Given the description of an element on the screen output the (x, y) to click on. 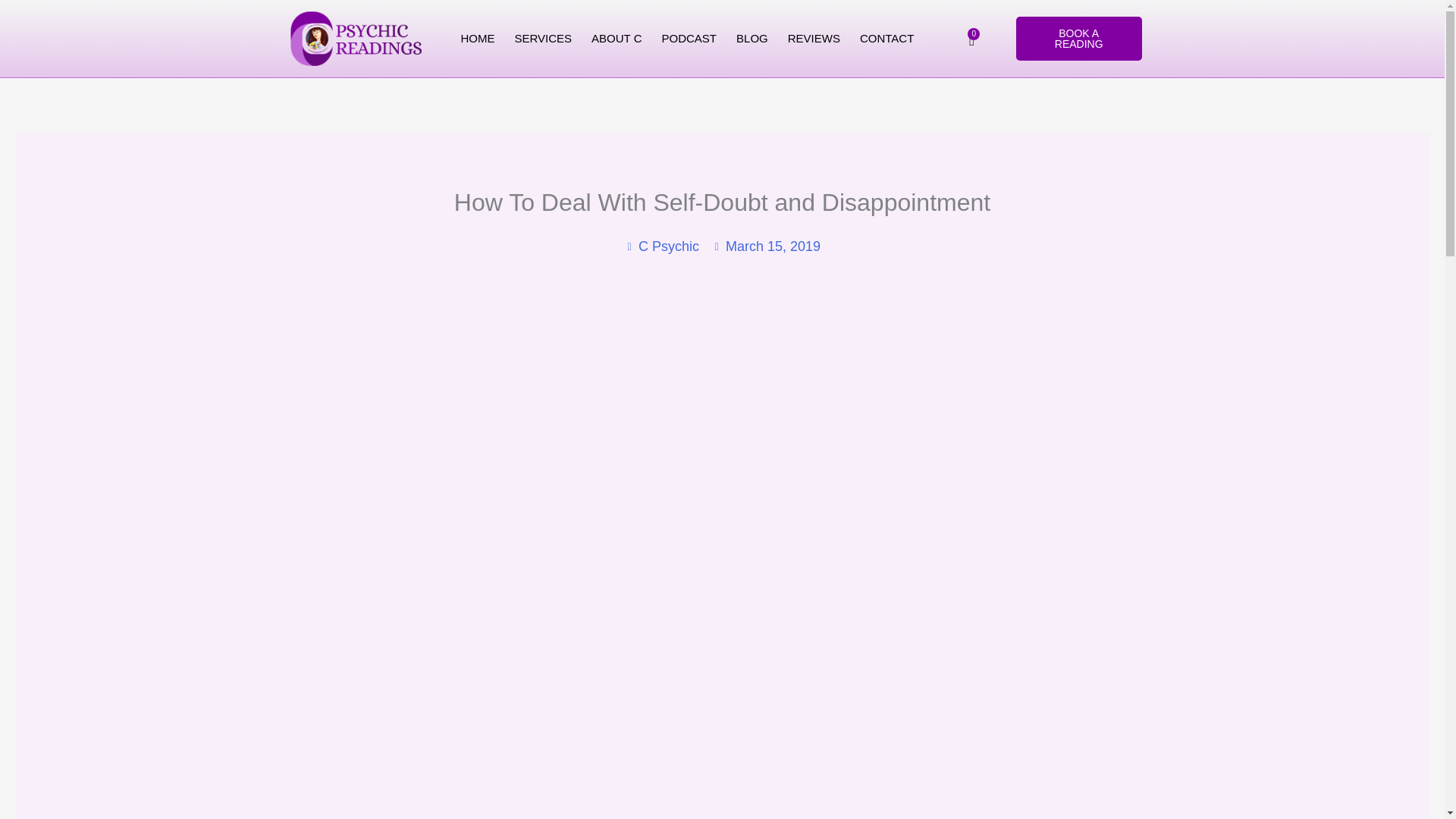
REVIEWS (813, 38)
BLOG (751, 38)
HOME (478, 38)
PODCAST (689, 38)
BOOK A READING (1078, 38)
March 15, 2019 (766, 246)
ABOUT C (615, 38)
C Psychic (661, 246)
SERVICES (543, 38)
